Given the description of an element on the screen output the (x, y) to click on. 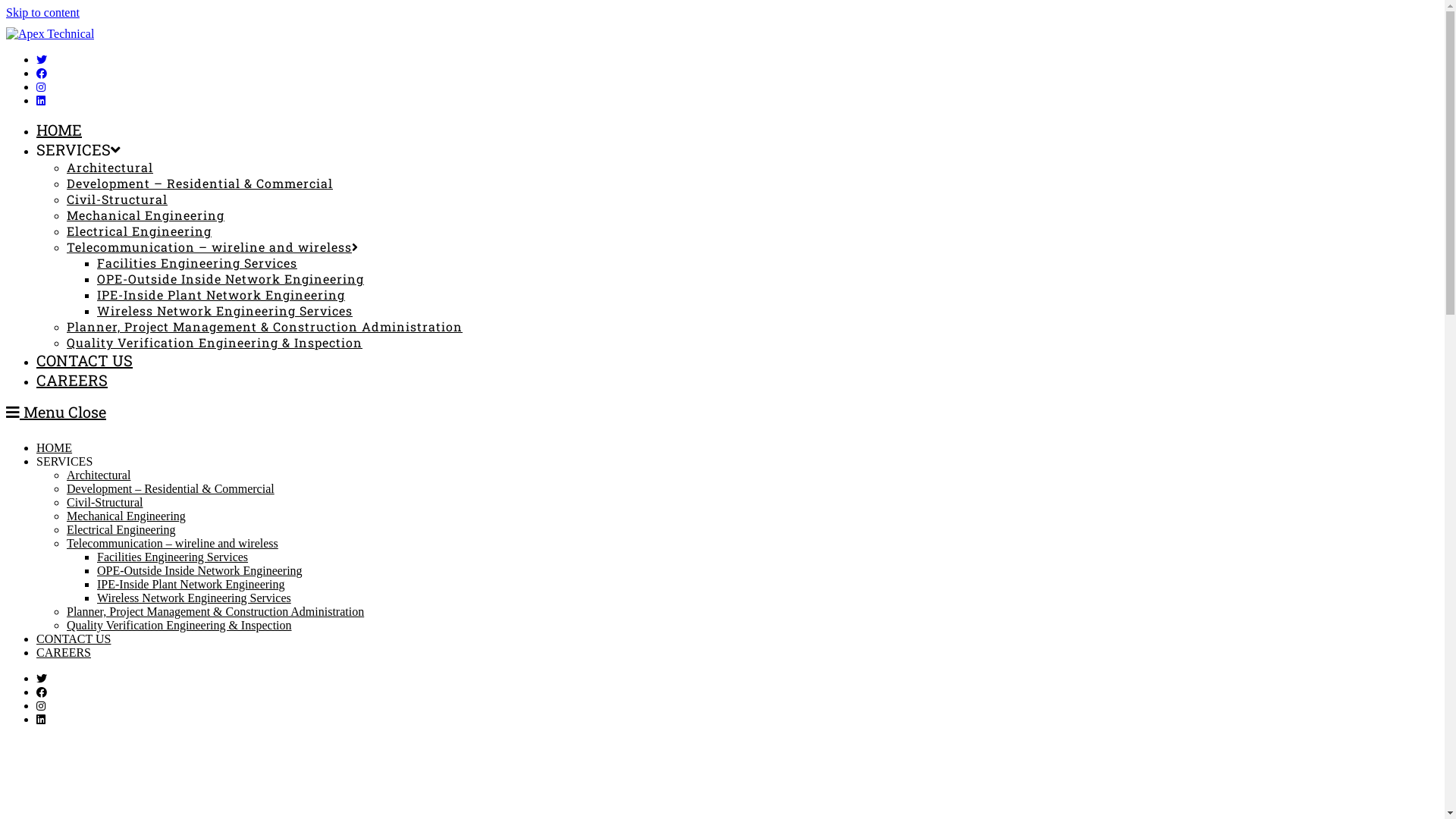
Skip to content Element type: text (42, 12)
Mechanical Engineering Element type: text (125, 515)
HOME Element type: text (58, 129)
OPE-Outside Inside Network Engineering Element type: text (230, 278)
Planner, Project Management & Construction Administration Element type: text (264, 326)
OPE-Outside Inside Network Engineering Element type: text (199, 570)
Civil-Structural Element type: text (116, 199)
Architectural Element type: text (109, 167)
IPE-Inside Plant Network Engineering Element type: text (221, 294)
Architectural Element type: text (98, 474)
HOME Element type: text (54, 447)
CAREERS Element type: text (63, 652)
IPE-Inside Plant Network Engineering Element type: text (191, 583)
Mechanical Engineering Element type: text (145, 214)
Electrical Engineering Element type: text (138, 230)
SERVICES Element type: text (64, 461)
Wireless Network Engineering Services Element type: text (224, 310)
SERVICES Element type: text (78, 149)
CONTACT US Element type: text (84, 360)
Planner, Project Management & Construction Administration Element type: text (215, 611)
Electrical Engineering Element type: text (120, 529)
Menu Close Element type: text (56, 411)
CAREERS Element type: text (71, 379)
Facilities Engineering Services Element type: text (197, 262)
Quality Verification Engineering & Inspection Element type: text (214, 342)
Quality Verification Engineering & Inspection Element type: text (178, 624)
Wireless Network Engineering Services Element type: text (194, 597)
Facilities Engineering Services Element type: text (172, 556)
Civil-Structural Element type: text (104, 501)
CONTACT US Element type: text (73, 638)
